Given the description of an element on the screen output the (x, y) to click on. 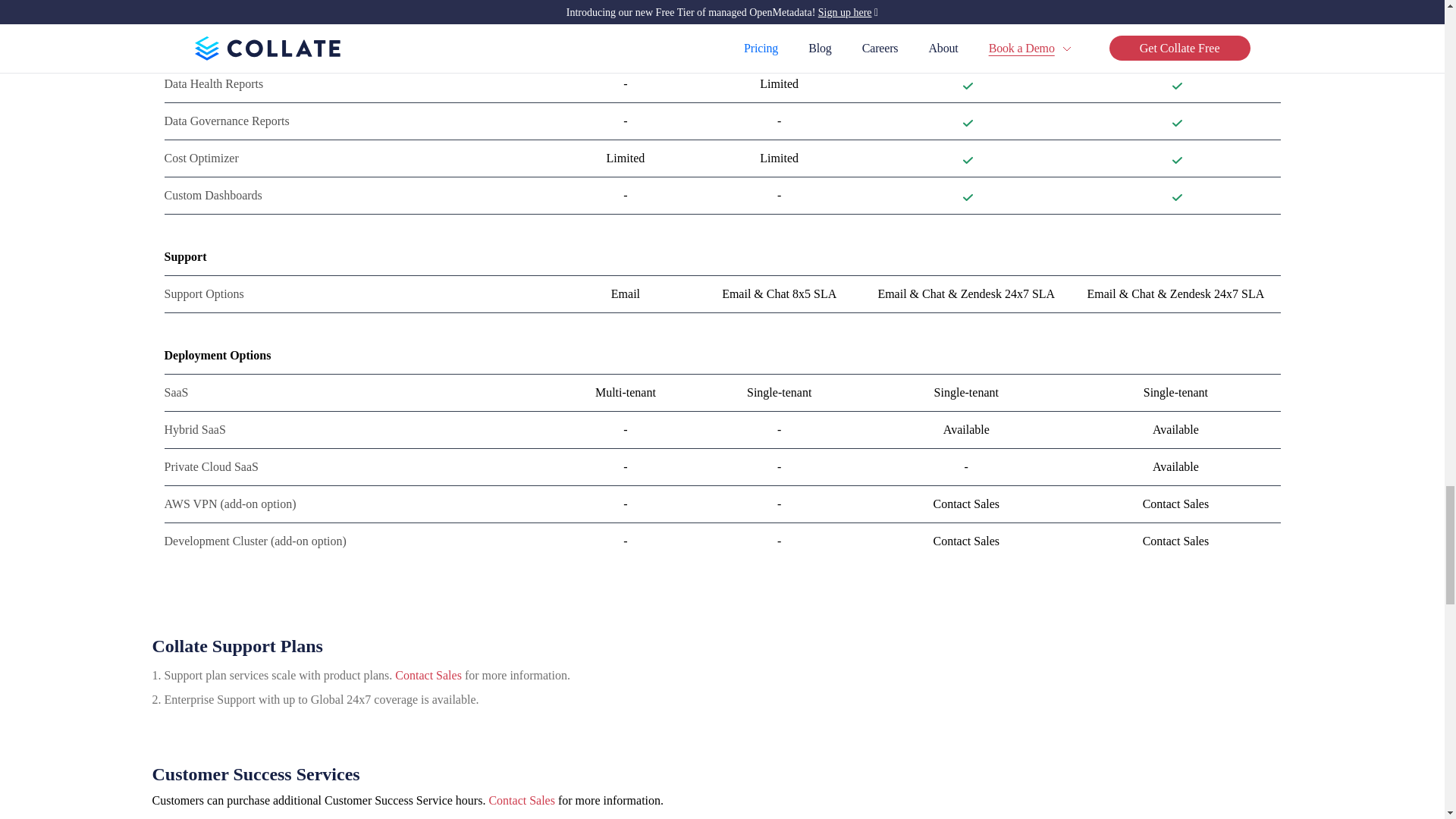
Contact Sales (520, 799)
Contact Sales (427, 675)
